Given the description of an element on the screen output the (x, y) to click on. 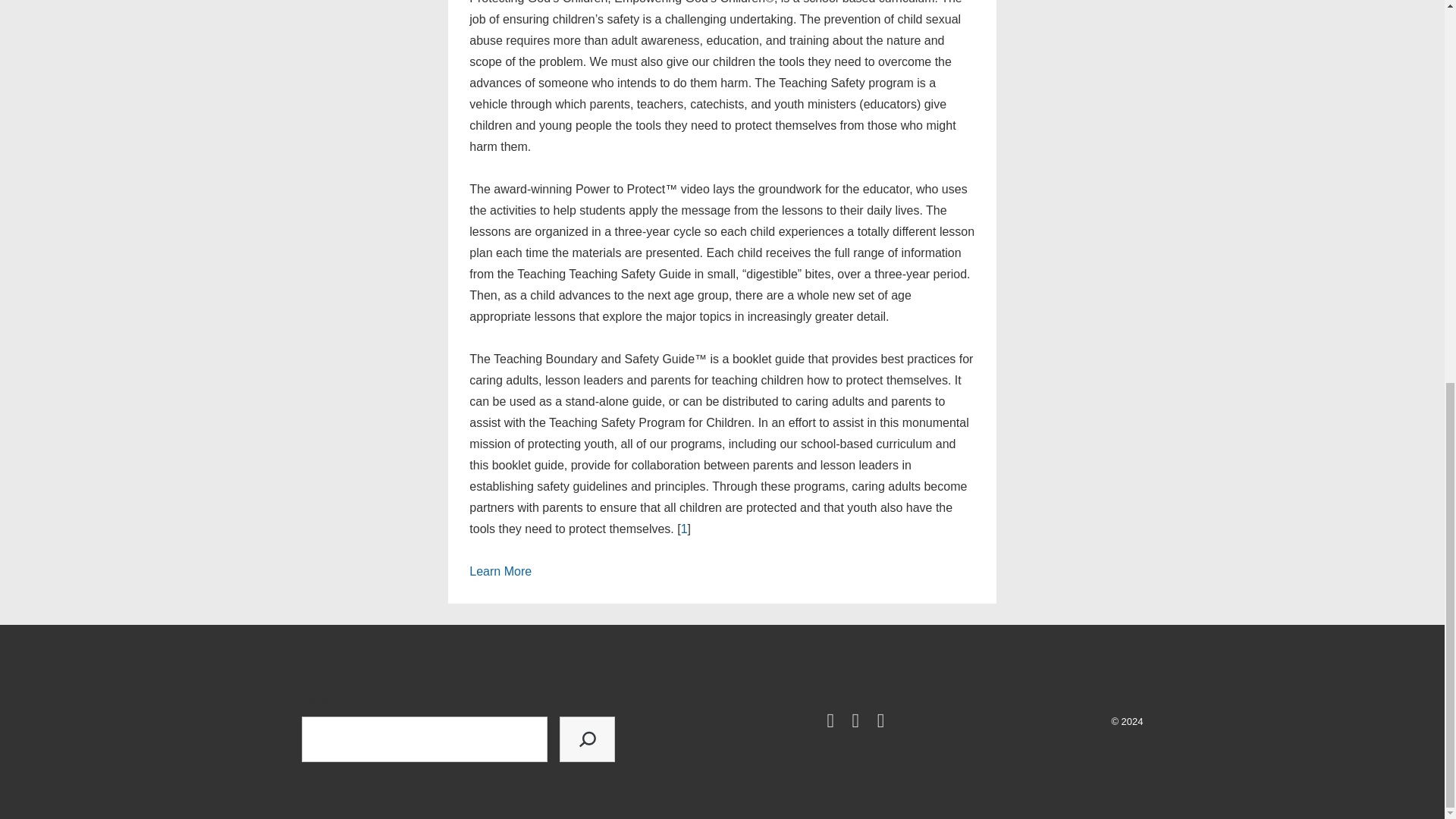
youtube (858, 723)
email (882, 723)
facebook (833, 723)
Learn More (499, 571)
